Given the description of an element on the screen output the (x, y) to click on. 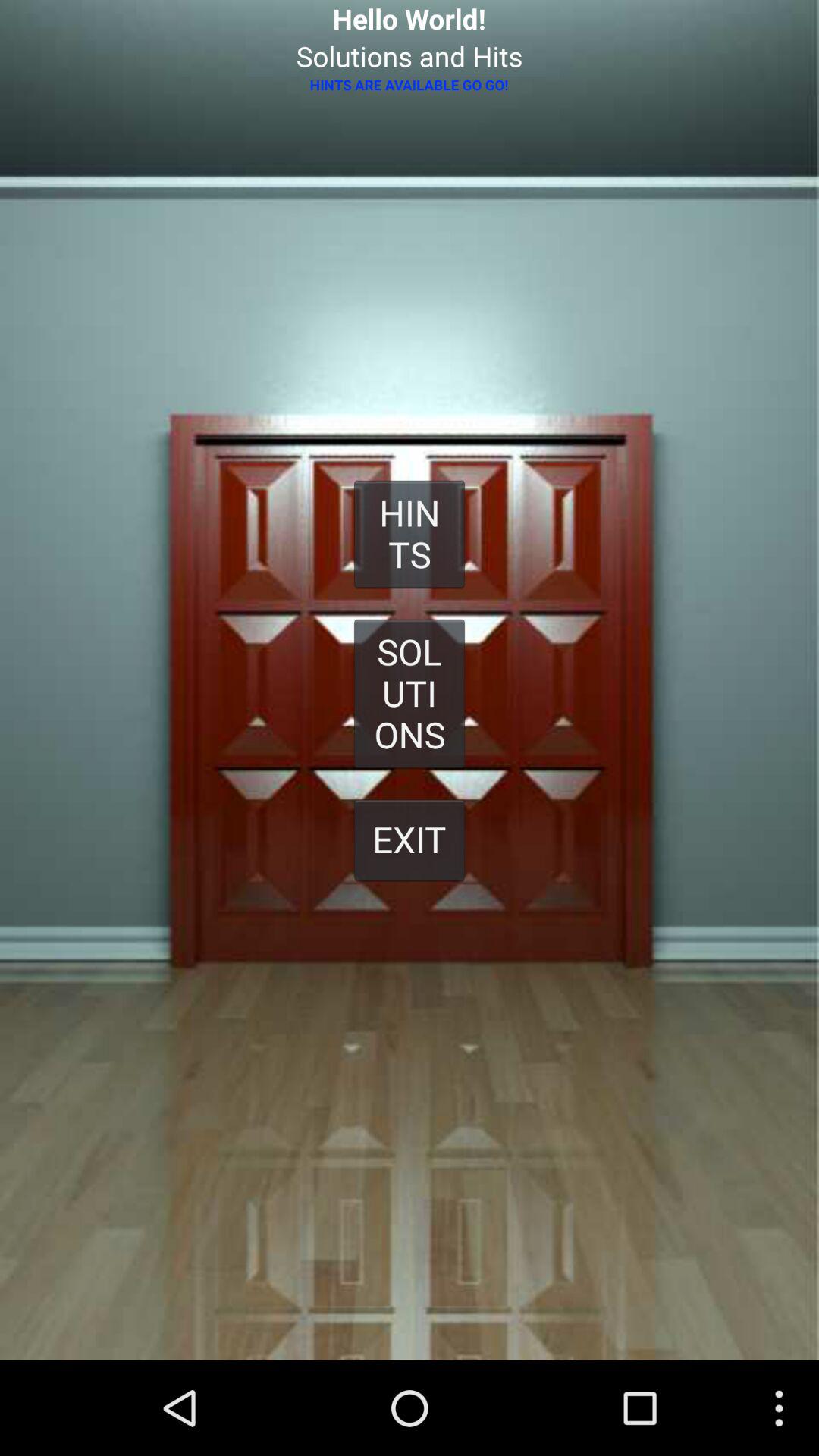
turn off button below solutions button (409, 839)
